Given the description of an element on the screen output the (x, y) to click on. 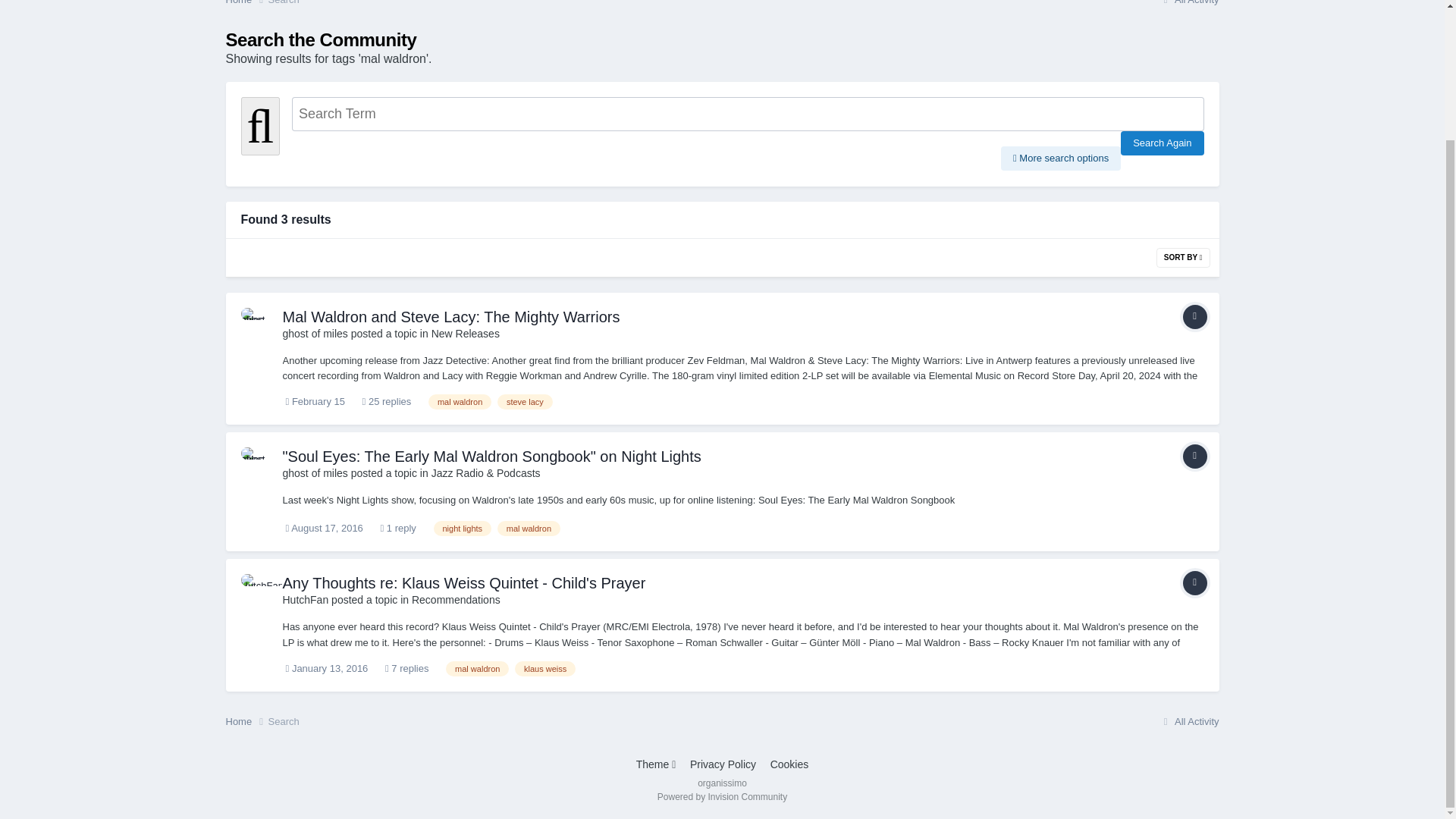
Topic (1194, 456)
Go to ghost of miles's profile (258, 324)
Go to ghost of miles's profile (314, 472)
Search (283, 2)
Find other content tagged with 'night lights' (462, 528)
More search options (1061, 158)
Find other content tagged with 'mal waldron' (460, 401)
Go to HutchFan's profile (305, 599)
Go to HutchFan's profile (258, 590)
Search Again (1162, 143)
